Given the description of an element on the screen output the (x, y) to click on. 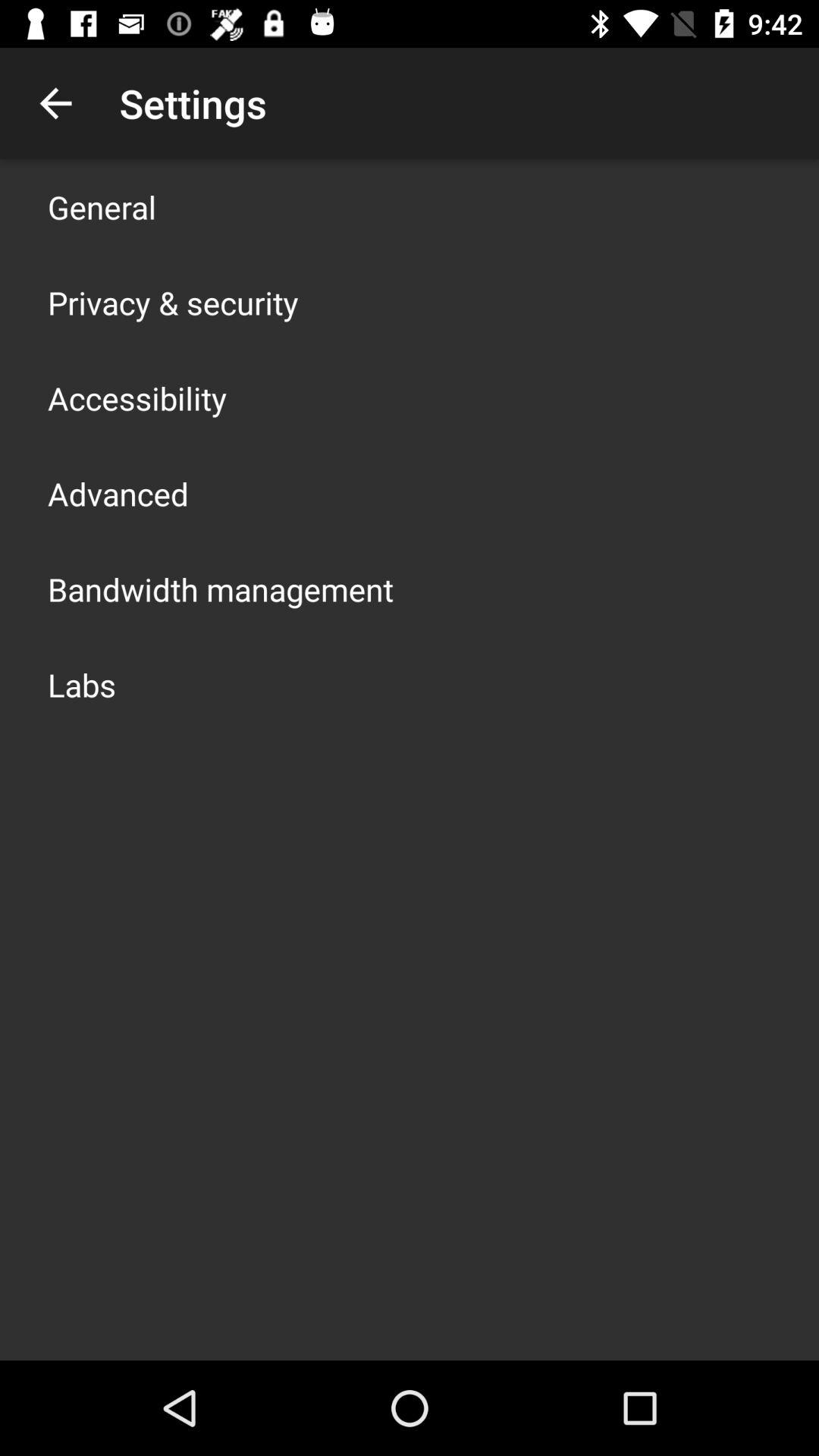
press item to the left of the settings app (55, 103)
